Given the description of an element on the screen output the (x, y) to click on. 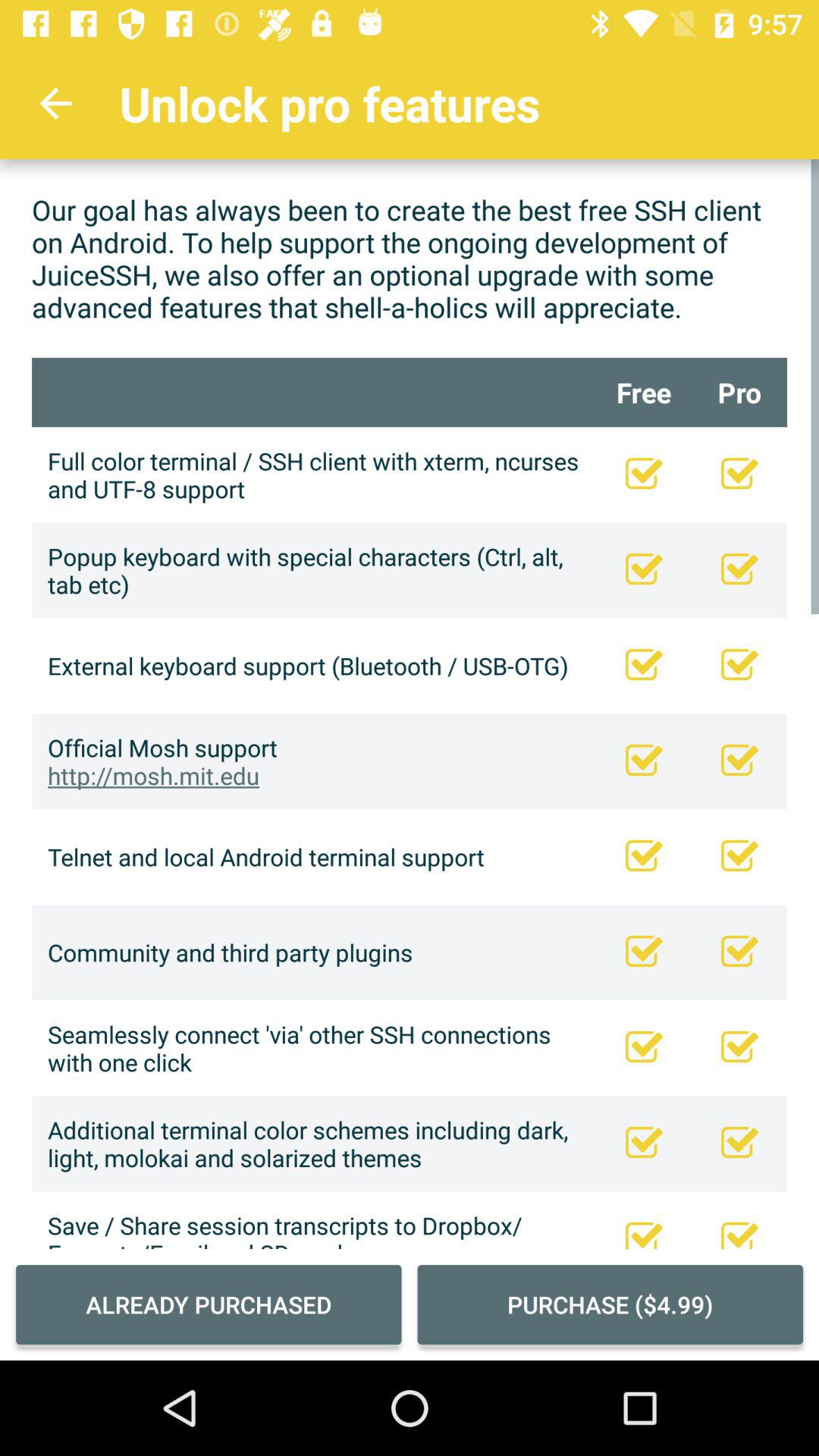
turn on icon next to unlock pro features (55, 103)
